Given the description of an element on the screen output the (x, y) to click on. 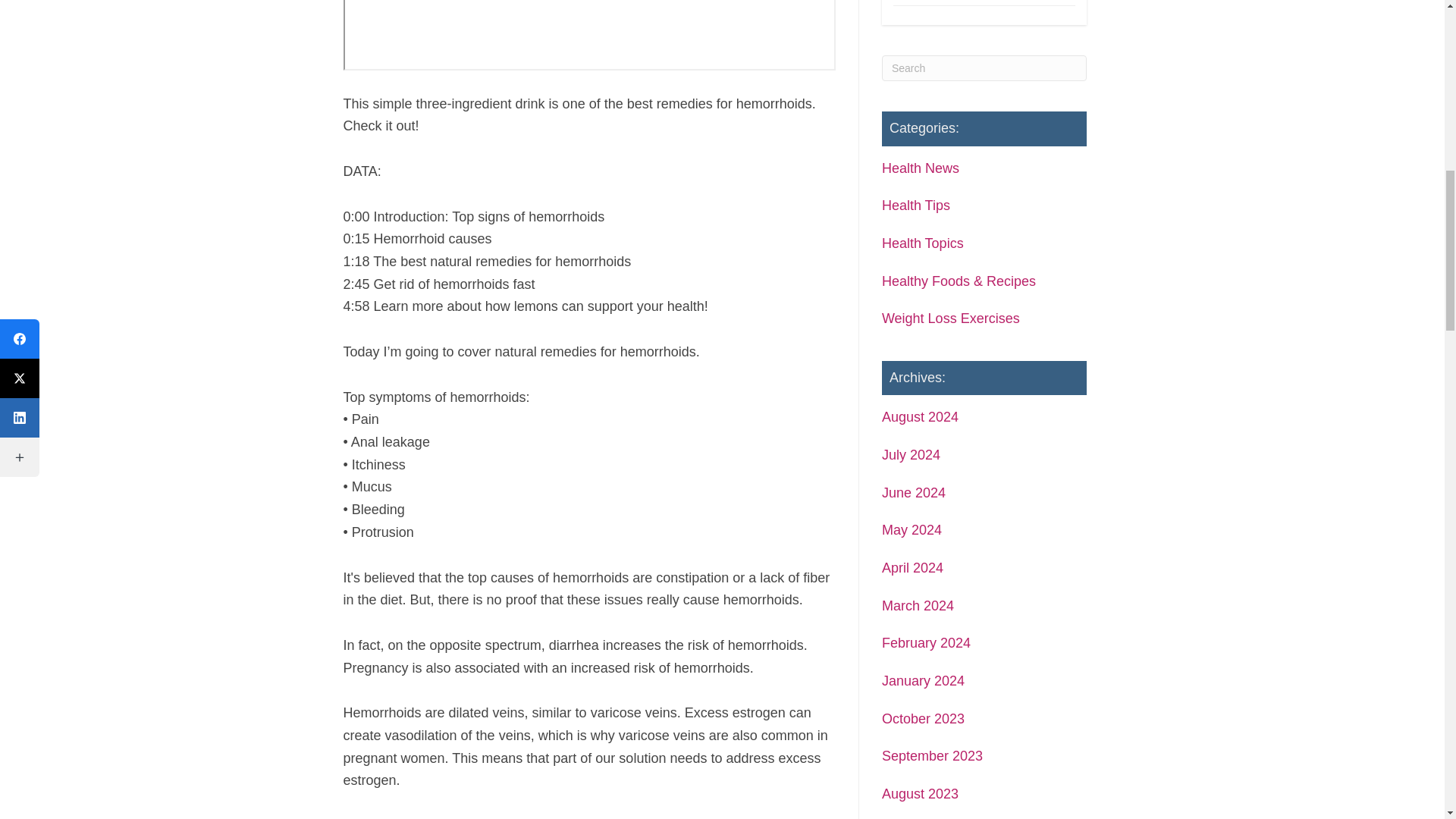
Health News (920, 168)
Type and press Enter to search. (984, 68)
Health Tips (916, 205)
